Given the description of an element on the screen output the (x, y) to click on. 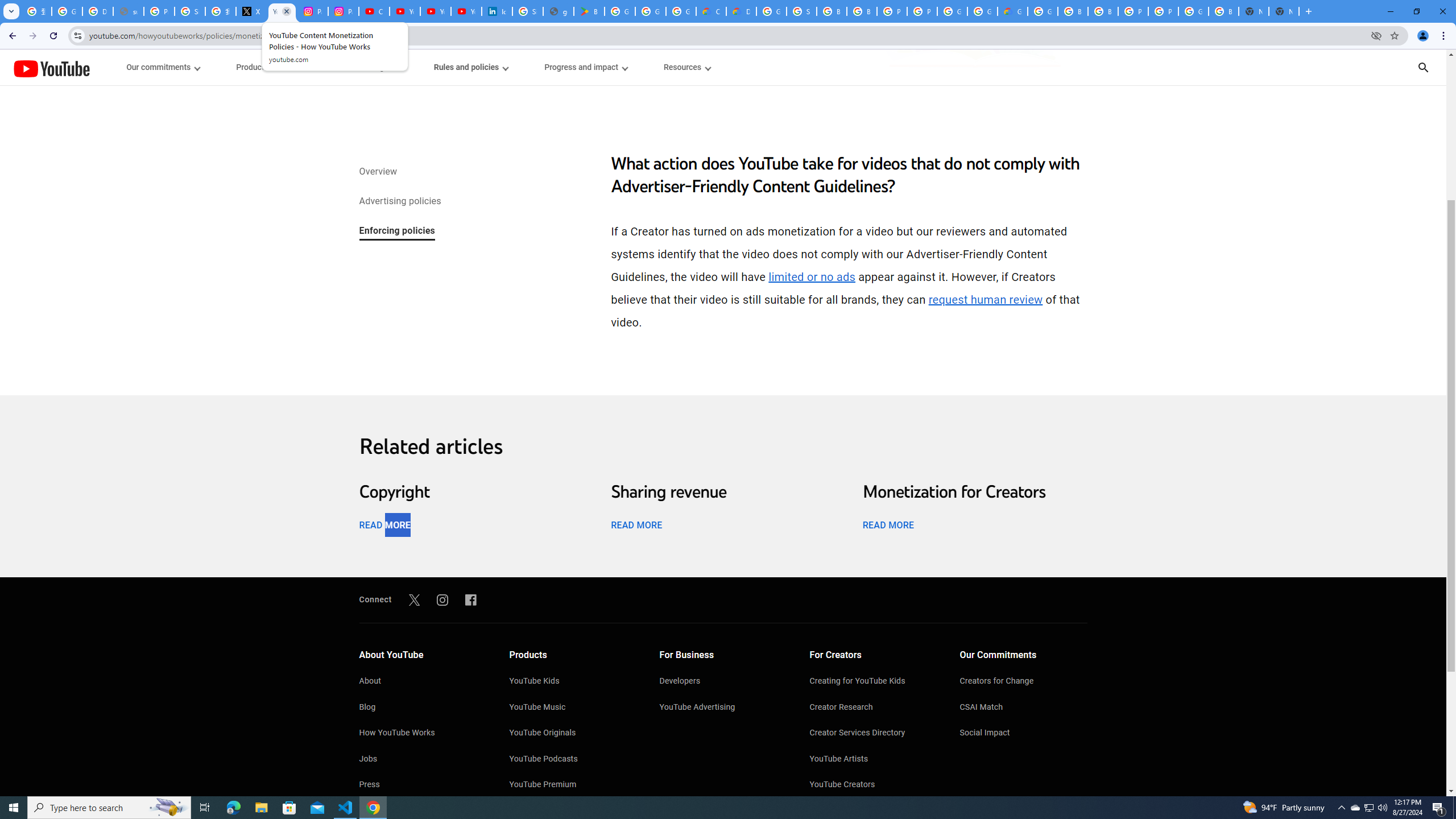
Browse Chrome as a guest - Computer - Google Chrome Help (861, 11)
request human review (985, 300)
Bluey: Let's Play! - Apps on Google Play (589, 11)
YouTube (51, 68)
Google Cloud Platform (982, 11)
Enforcing policies (396, 231)
YouTube Advertising (723, 708)
YouTube Kids (573, 682)
Blog (422, 708)
